Given the description of an element on the screen output the (x, y) to click on. 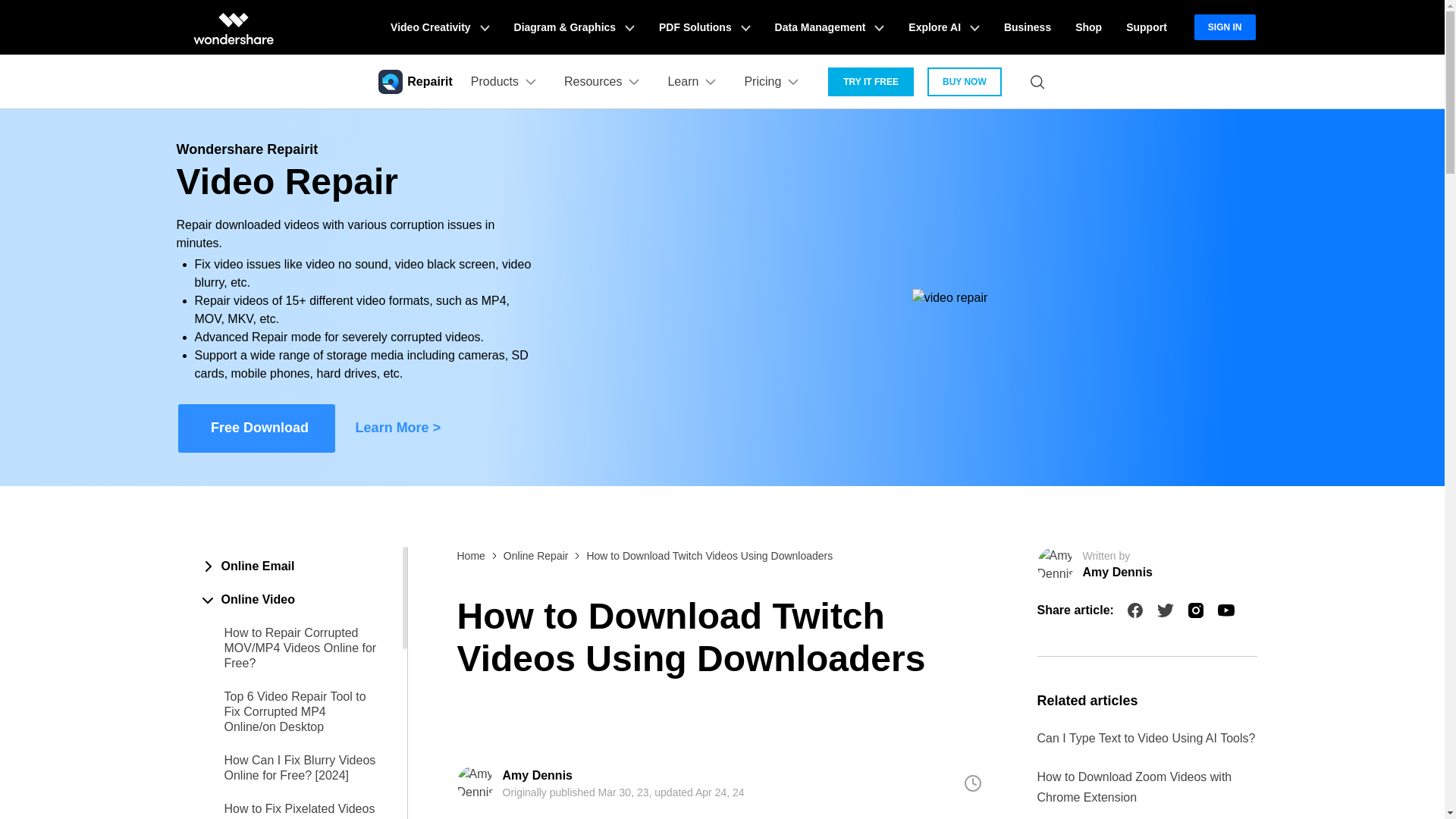
Explore AI (943, 27)
Video Creativity (439, 27)
Data Management (829, 27)
PDF Solutions (704, 27)
Business (1026, 27)
